Given the description of an element on the screen output the (x, y) to click on. 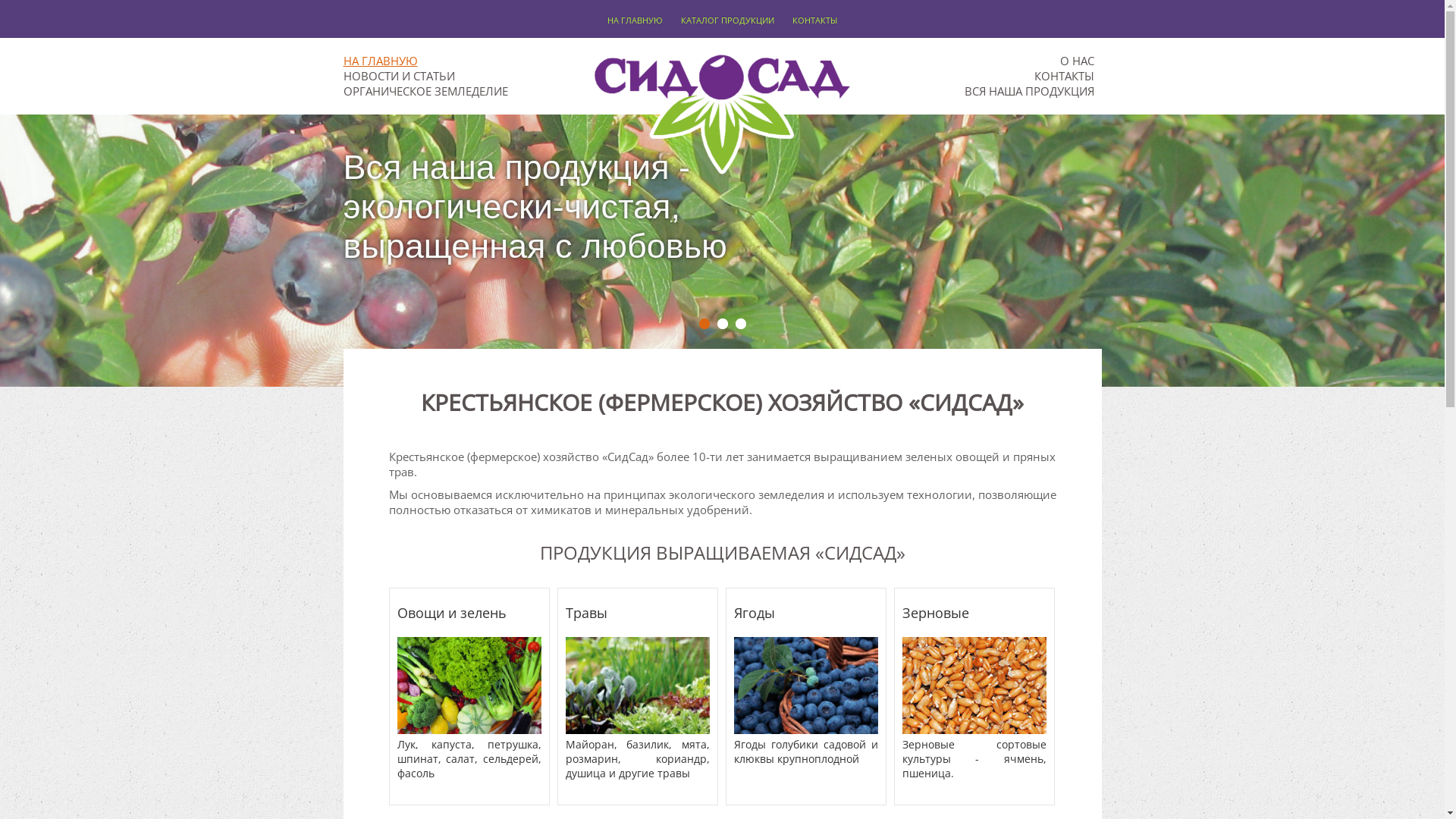
1 Element type: text (704, 323)
2 Element type: text (722, 323)
3 Element type: text (740, 323)
